Given the description of an element on the screen output the (x, y) to click on. 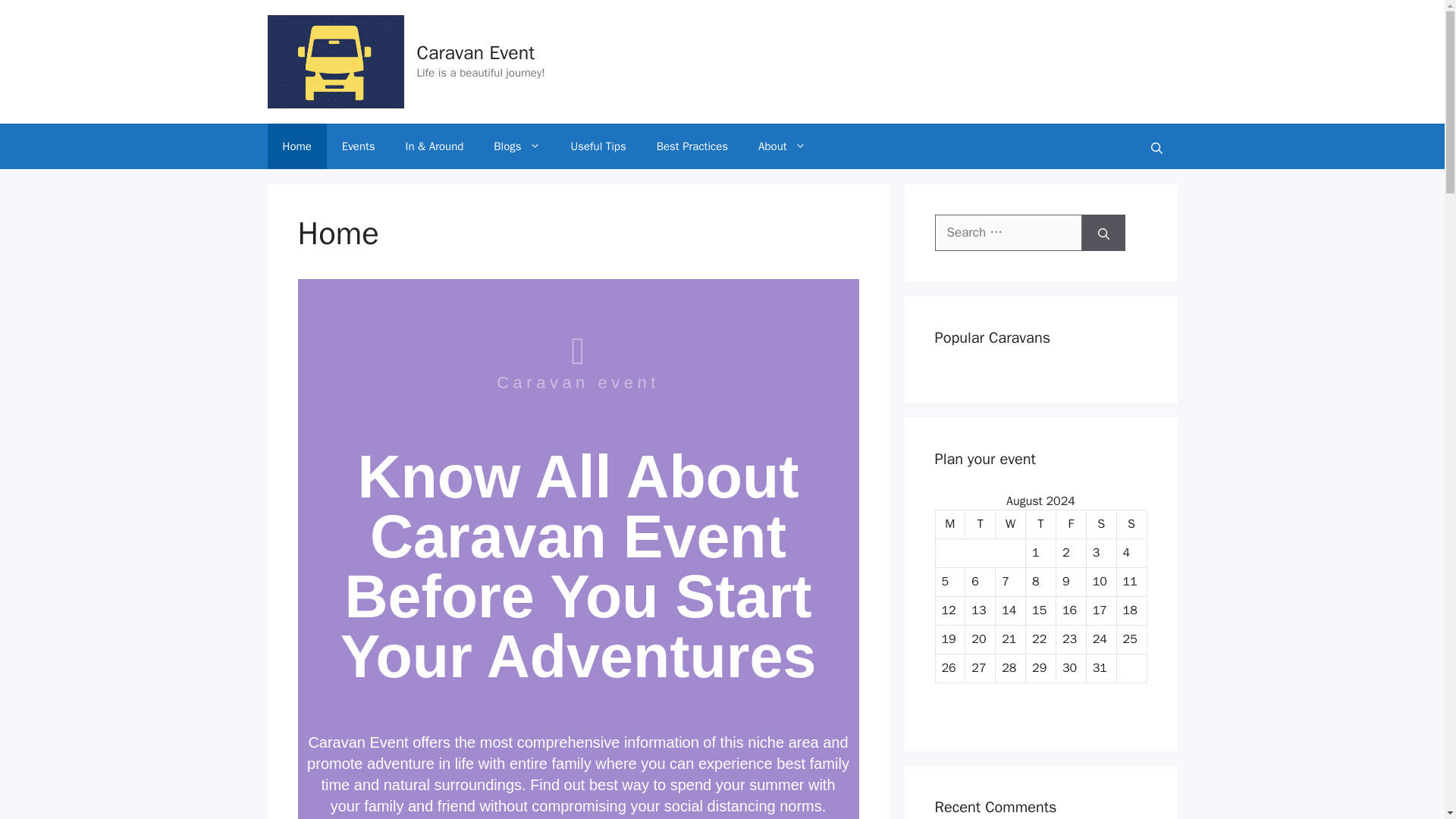
Thursday (1041, 524)
Caravan Event (334, 60)
Monday (951, 524)
Home (296, 145)
Best Practices (692, 145)
Caravan Event (475, 52)
Friday (1071, 524)
Useful Tips (599, 145)
Wednesday (1010, 524)
Events (358, 145)
